Given the description of an element on the screen output the (x, y) to click on. 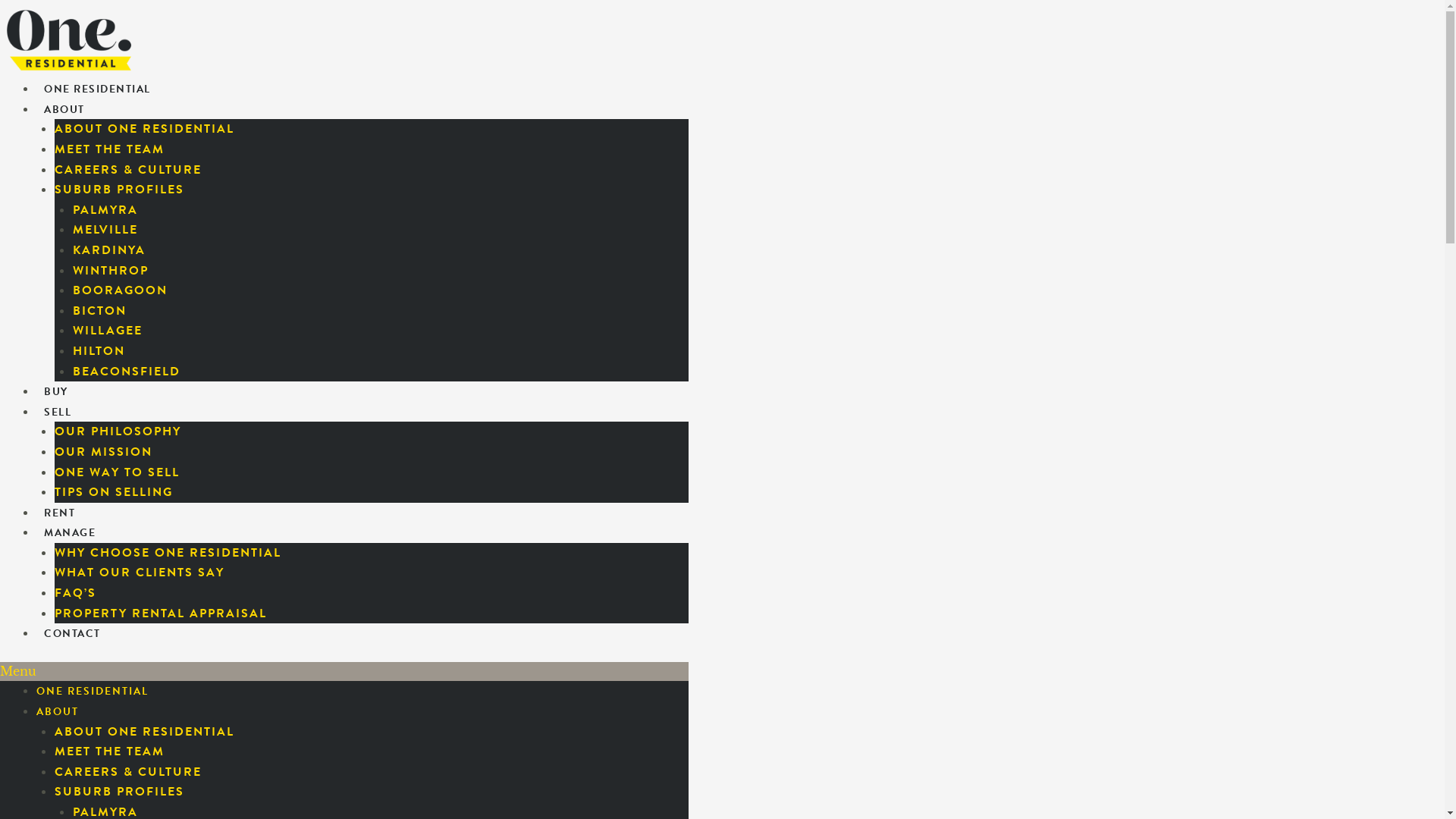
ABOUT ONE RESIDENTIAL Element type: text (144, 128)
ABOUT Element type: text (64, 109)
RENT Element type: text (59, 512)
WILLAGEE Element type: text (107, 330)
WINTHROP Element type: text (110, 270)
CAREERS & CULTURE Element type: text (127, 771)
SELL Element type: text (57, 412)
BUY Element type: text (55, 391)
WHAT OUR CLIENTS SAY Element type: text (139, 572)
SUBURB PROFILES Element type: text (119, 189)
ABOUT Element type: text (57, 711)
ONE RESIDENTIAL Element type: text (92, 691)
KARDINYA Element type: text (108, 250)
PROPERTY RENTAL APPRAISAL Element type: text (160, 613)
TIPS ON SELLING Element type: text (113, 492)
MANAGE Element type: text (69, 532)
MEET THE TEAM Element type: text (109, 751)
WHY CHOOSE ONE RESIDENTIAL Element type: text (167, 552)
CONTACT Element type: text (72, 633)
MEET THE TEAM Element type: text (109, 149)
OUR MISSION Element type: text (103, 451)
PALMYRA Element type: text (105, 209)
MELVILLE Element type: text (105, 229)
BICTON Element type: text (99, 310)
BOORAGOON Element type: text (119, 290)
HILTON Element type: text (98, 351)
BEACONSFIELD Element type: text (126, 371)
ABOUT ONE RESIDENTIAL Element type: text (144, 731)
ONE WAY TO SELL Element type: text (116, 471)
CAREERS & CULTURE Element type: text (127, 169)
SUBURB PROFILES Element type: text (119, 791)
ONE RESIDENTIAL Element type: text (97, 89)
OUR PHILOSOPHY Element type: text (117, 431)
